Given the description of an element on the screen output the (x, y) to click on. 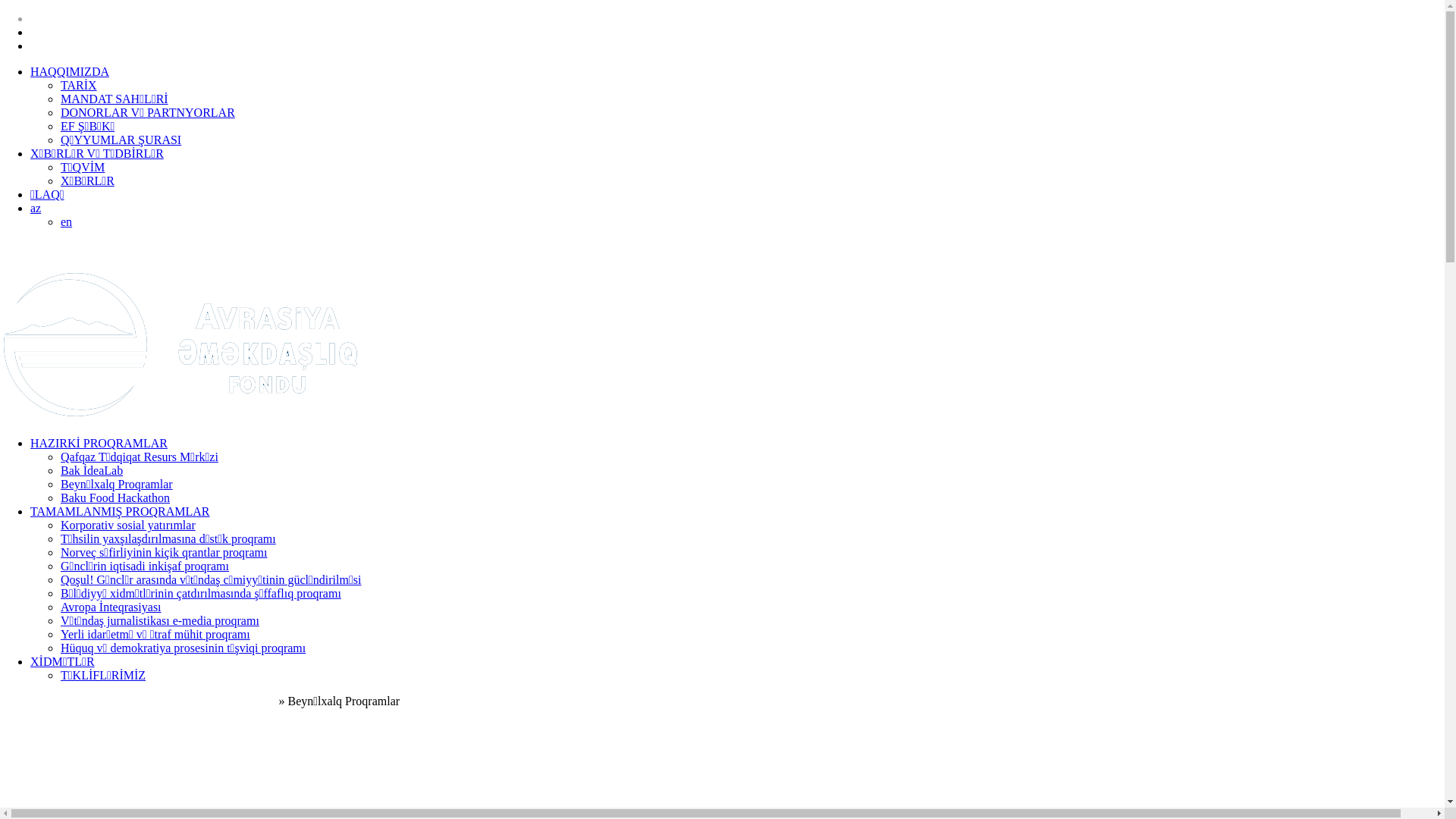
Web Coder Agency Element type: text (1360, 635)
az Element type: text (35, 207)
HAQQIMIZDA Element type: text (69, 71)
Baku Food Hackathon Element type: text (114, 497)
en Element type: text (66, 221)
